Given the description of an element on the screen output the (x, y) to click on. 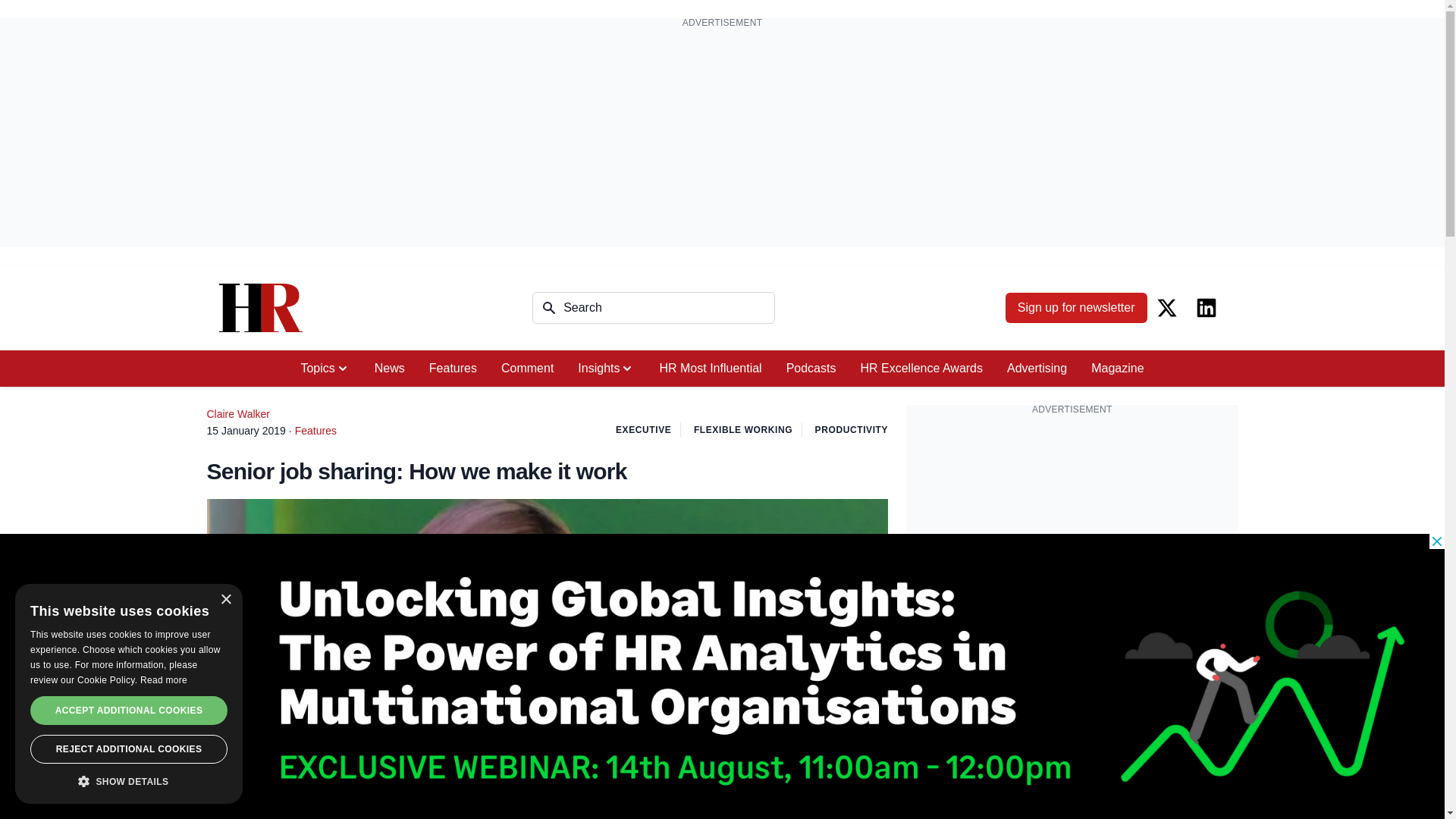
Podcasts (811, 368)
News (389, 368)
HR Most Influential (709, 368)
Sign up for newsletter (1076, 307)
Topics (324, 368)
3rd party ad content (1072, 520)
Insights (606, 368)
Features (452, 368)
Comment (527, 368)
